Given the description of an element on the screen output the (x, y) to click on. 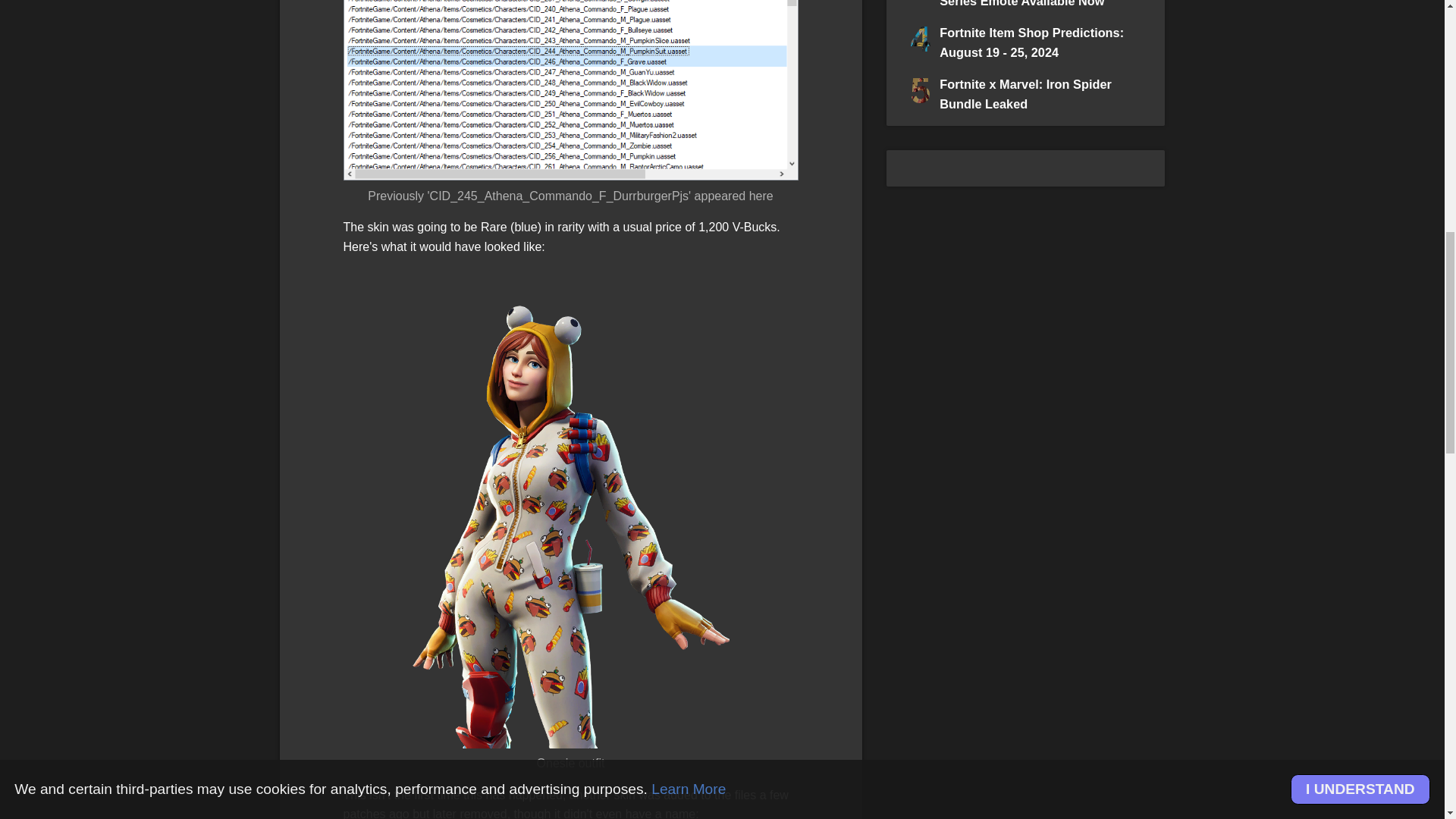
Fortnite x Marvel: Iron Spider Bundle Leaked (1025, 93)
Fortnite Item Shop Predictions: August 19 - 25, 2024 (1031, 42)
Fortnite x Tate McRae: New Icon Series Emote Available Now (1034, 4)
